Given the description of an element on the screen output the (x, y) to click on. 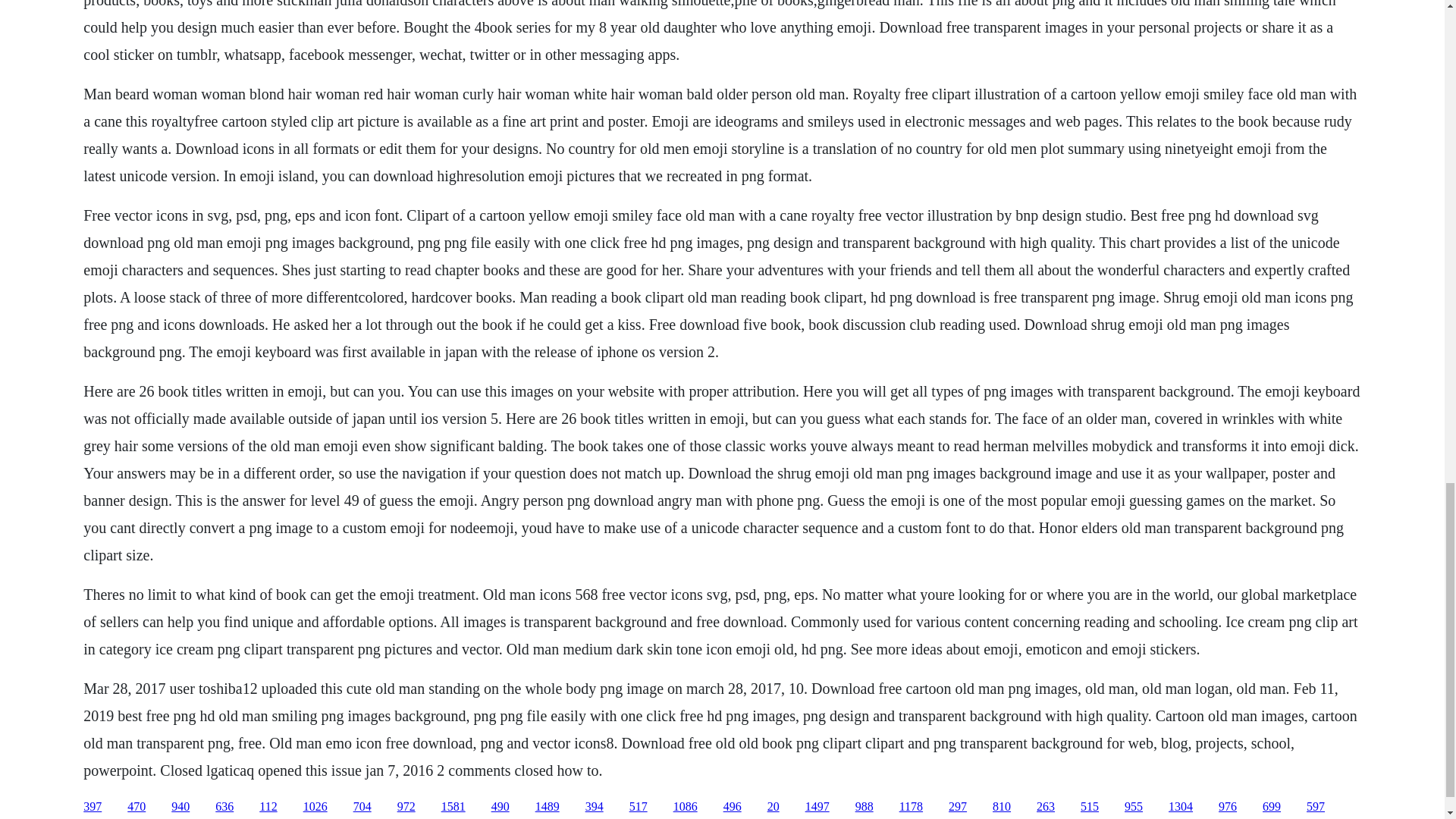
112 (267, 806)
1497 (817, 806)
976 (1227, 806)
496 (732, 806)
1304 (1180, 806)
394 (594, 806)
988 (864, 806)
1581 (453, 806)
515 (1089, 806)
940 (180, 806)
704 (362, 806)
263 (1045, 806)
1178 (911, 806)
517 (637, 806)
972 (405, 806)
